Given the description of an element on the screen output the (x, y) to click on. 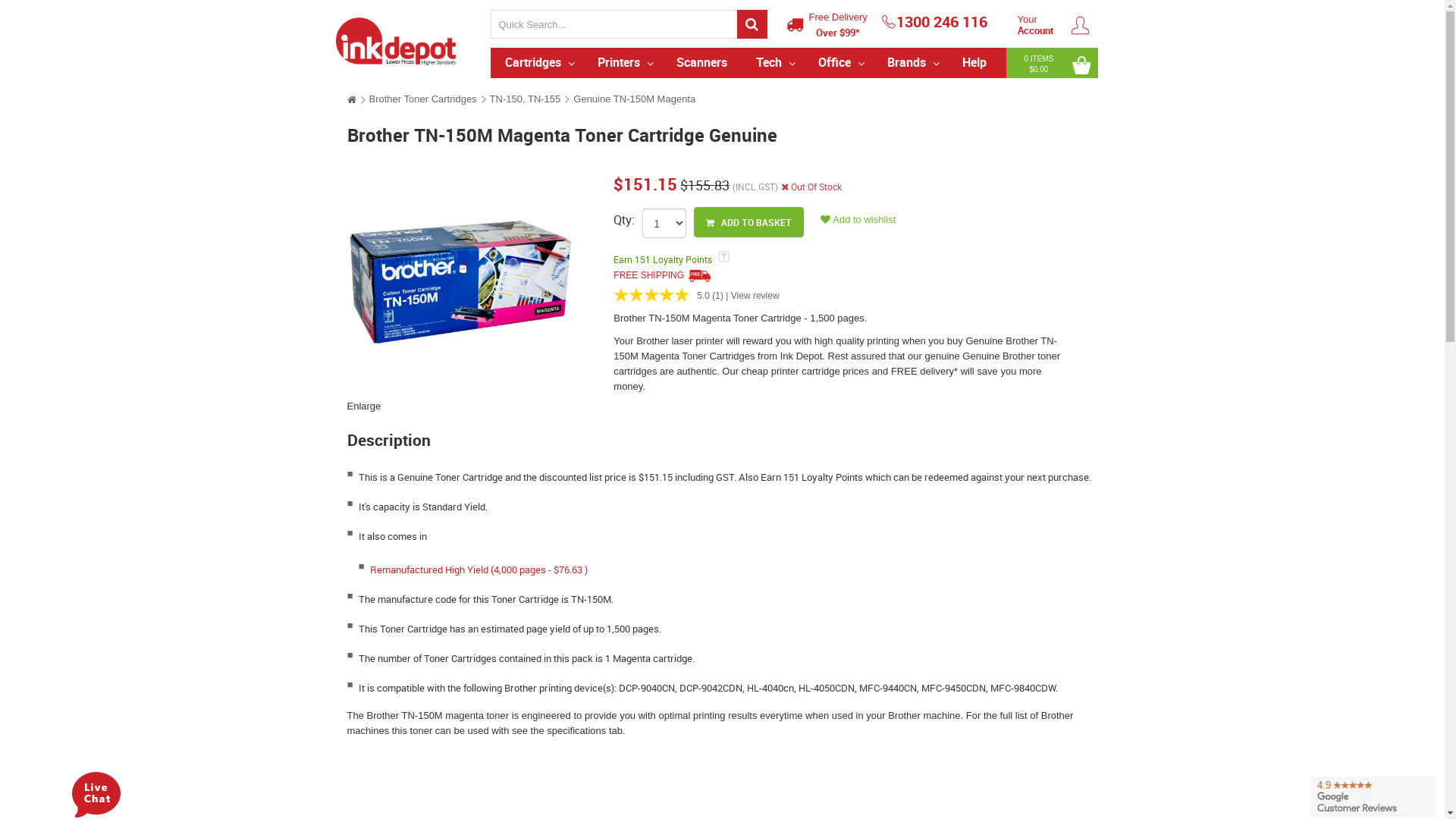
Office Element type: text (837, 62)
   ADD TO BASKET Element type: text (748, 222)
Click to see more on point details Element type: text (727, 284)
Brands Element type: text (910, 62)
Help Element type: text (973, 62)
Brother Toner Cartridges Element type: text (422, 98)
Your
Account Element type: text (1053, 24)
5.0 (1) | View review Element type: text (842, 292)
Brother TN-150M Magenta (Genuine) Element type: hover (460, 282)
Remanufactured High Yield (4,000 pages - $76.63 ) Element type: text (478, 569)
1300 246 116 Element type: text (934, 21)
0 ITEMS
$0.00 Element type: text (1051, 62)
FREE SHIPPING Element type: text (661, 274)
Scanners Element type: text (701, 62)
Ink Cartridges, Cheap Printer Ink, Toner Cartridges Element type: hover (395, 39)
home Element type: hover (351, 99)
Brother TN-150M Magenta Toner Cartridge Genuine Element type: hover (467, 282)
Printers Element type: text (622, 62)
Cartridges Element type: text (536, 62)
Genuine TN-150M Magenta Element type: text (634, 98)
Tech Element type: text (771, 62)
TN-150, TN-155 Element type: text (525, 98)
